Given the description of an element on the screen output the (x, y) to click on. 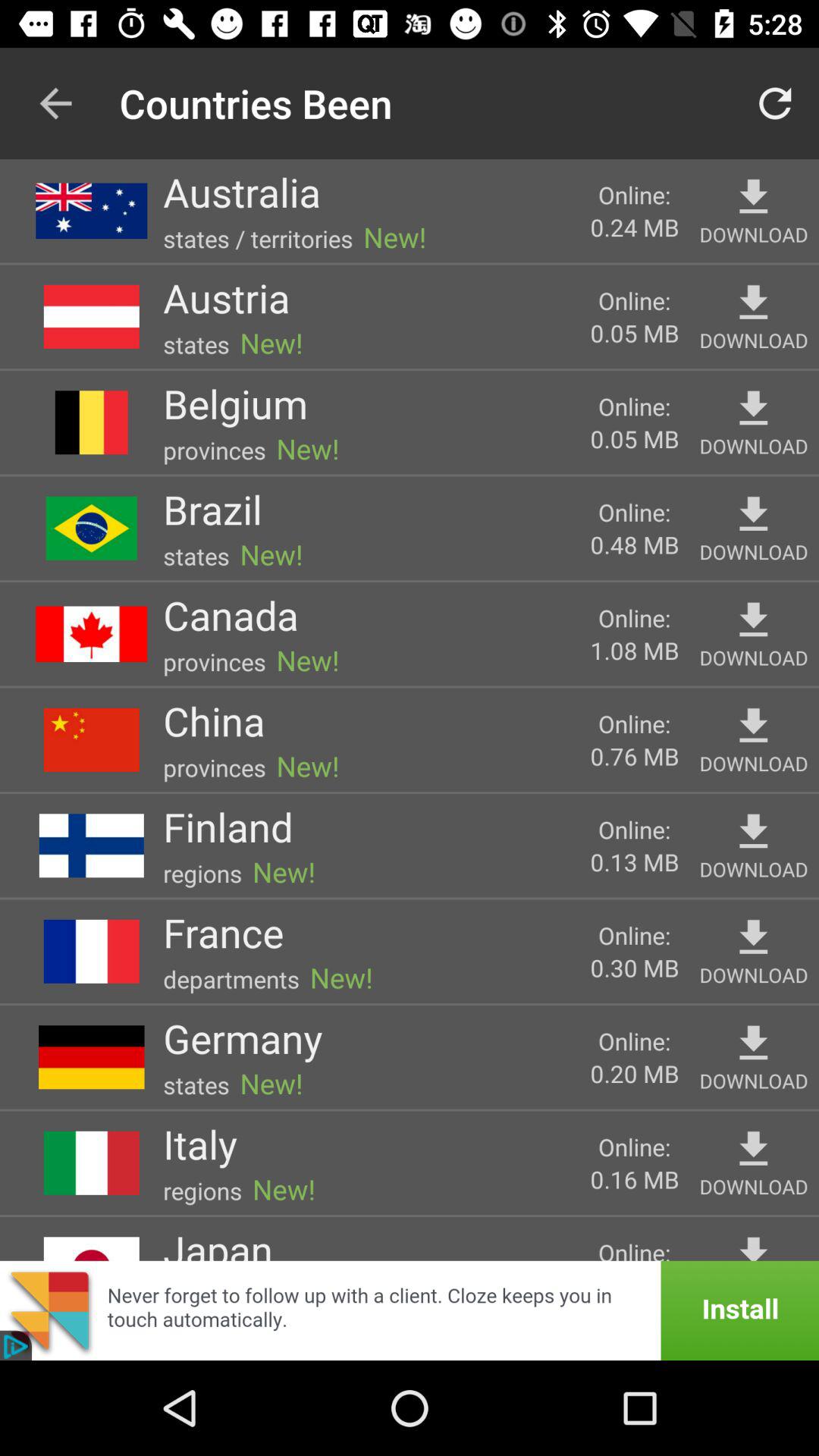
jump to the states / territories item (258, 238)
